Given the description of an element on the screen output the (x, y) to click on. 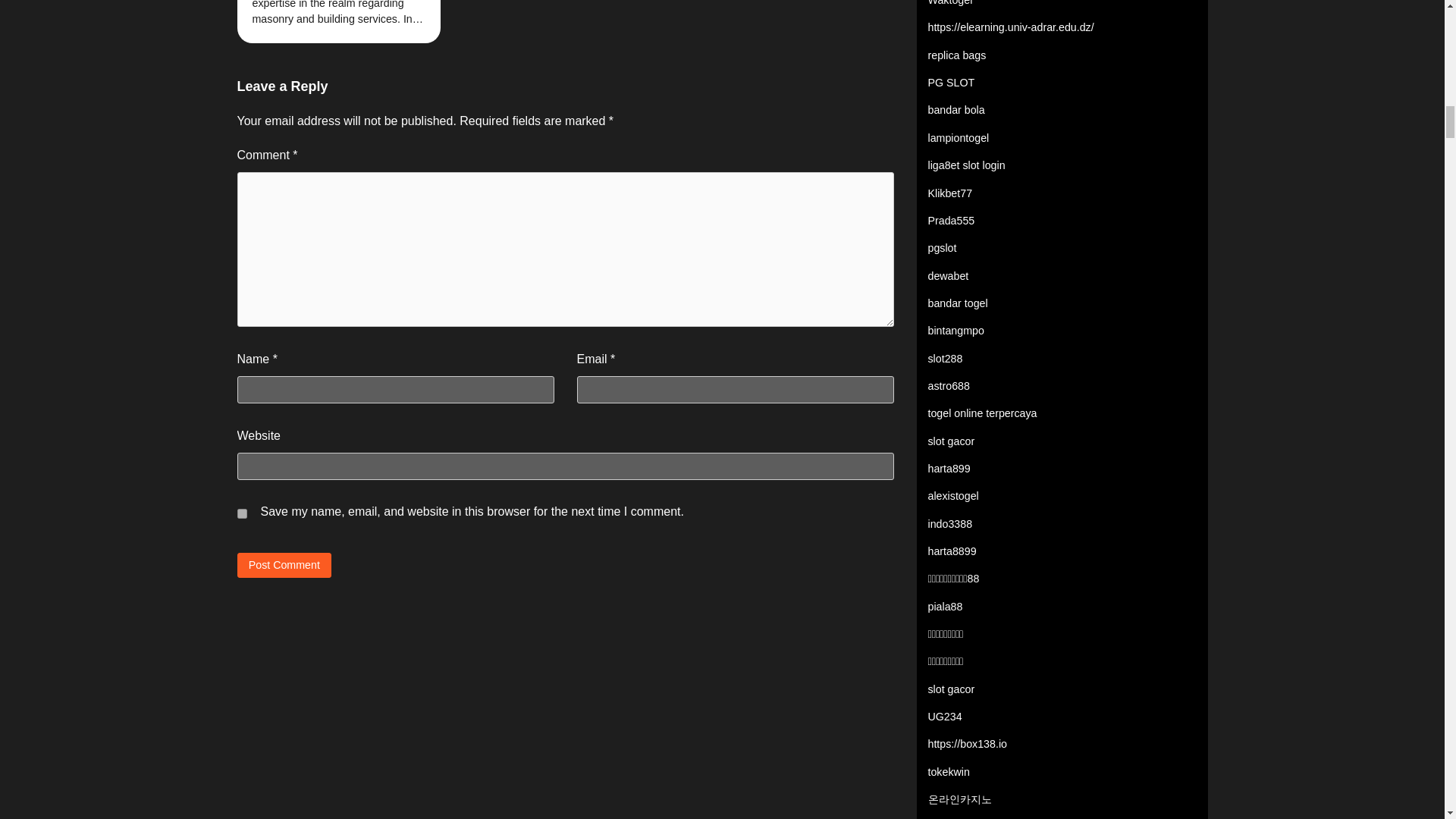
yes (240, 513)
Post Comment (283, 565)
Post Comment (283, 565)
